Given the description of an element on the screen output the (x, y) to click on. 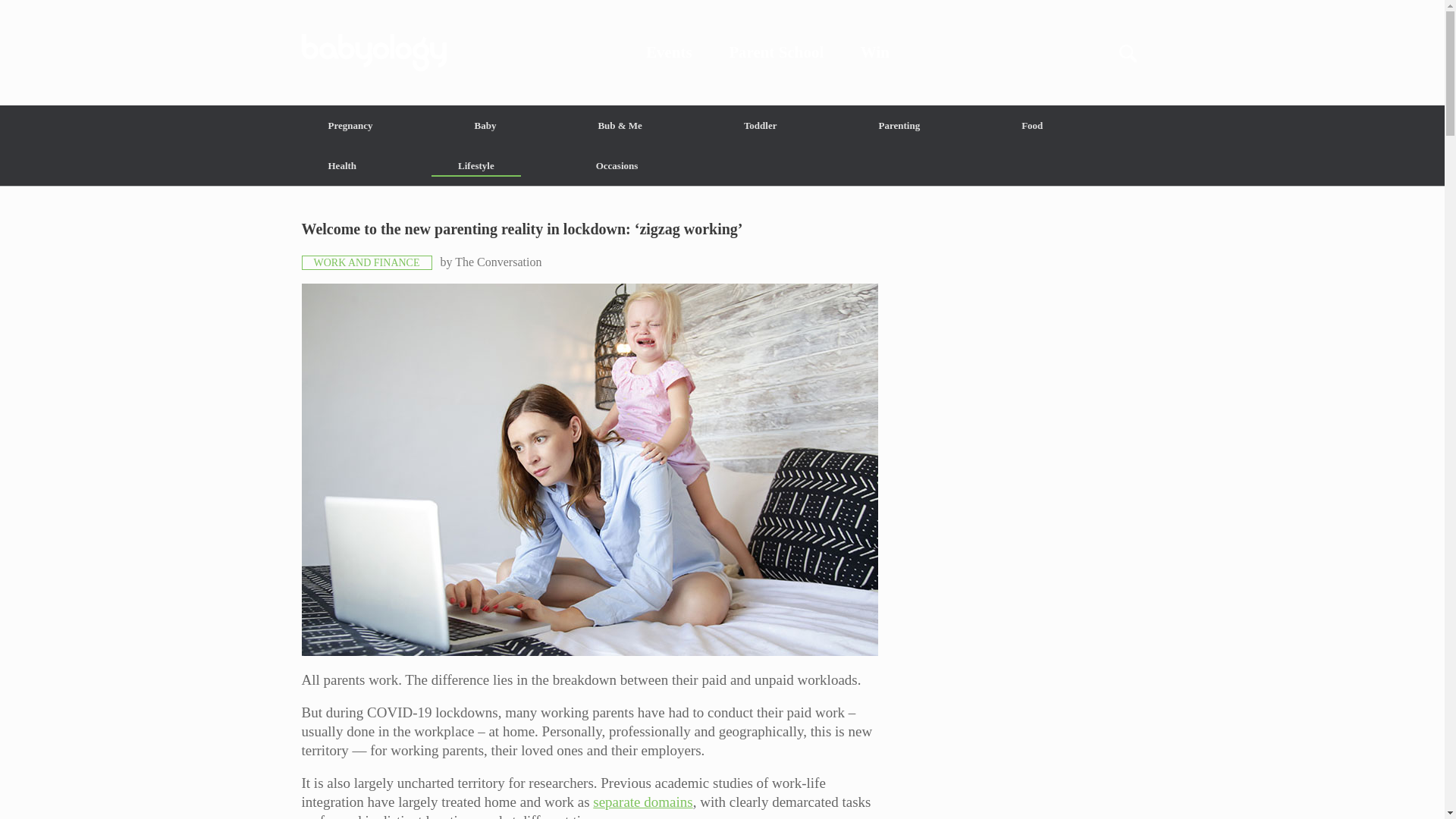
Babyology (721, 52)
Events (669, 52)
WORK AND FINANCE (366, 262)
Parenting (898, 125)
Occasions (617, 165)
Health (342, 165)
Toddler (760, 125)
The Conversation (497, 261)
View all posts by The Conversation (497, 261)
Pregnancy (349, 125)
Parent School (776, 52)
Lifestyle (475, 165)
separate domains (642, 801)
Win (874, 52)
Food (1031, 125)
